Given the description of an element on the screen output the (x, y) to click on. 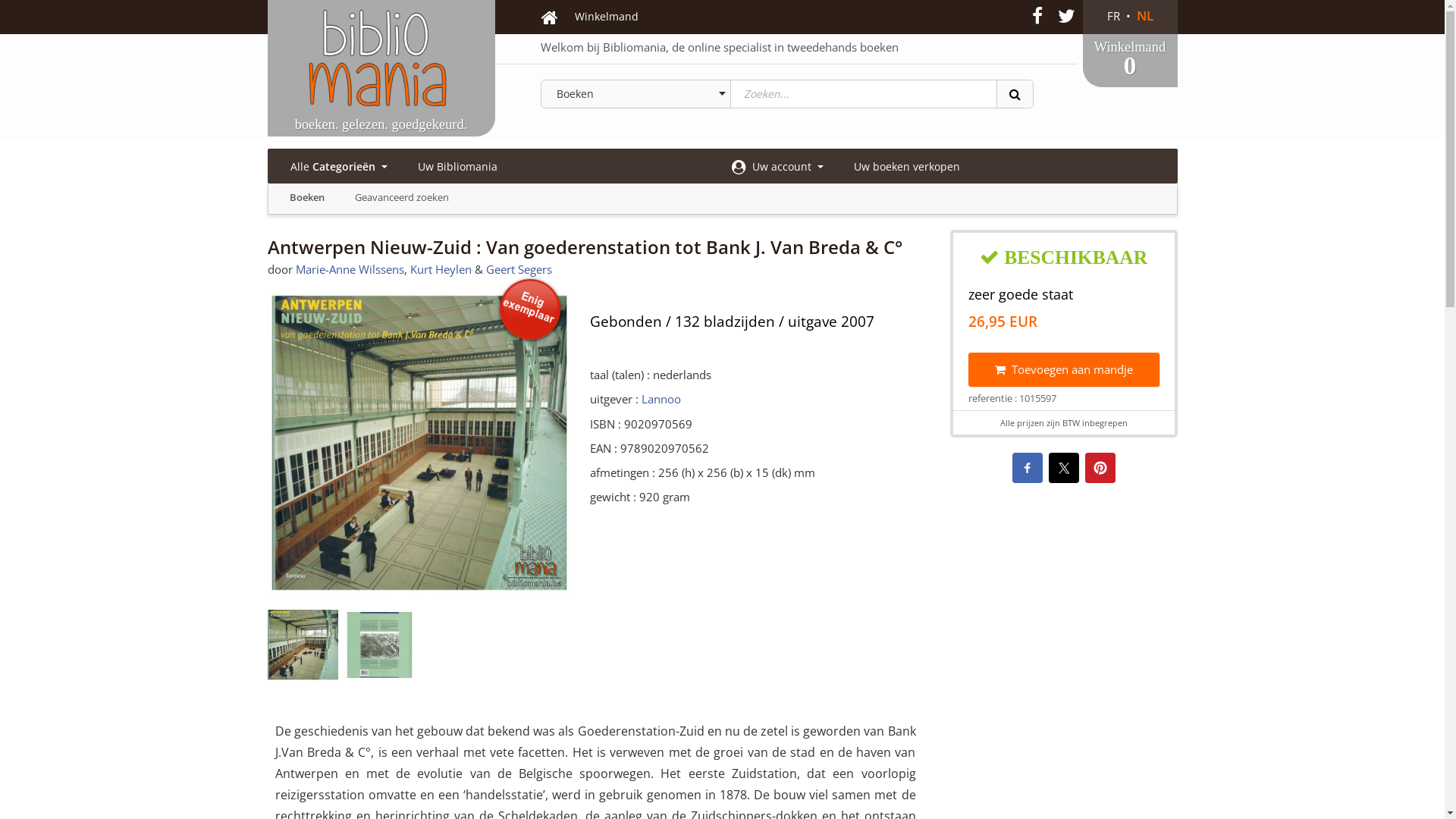
Uw boeken verkopen Element type: text (906, 166)
  Toevoegen aan mandje Element type: text (1062, 369)
Boeken Element type: text (306, 196)
Marie-Anne Wilssens Element type: text (349, 268)
Kurt Heylen Element type: text (439, 268)
Geavanceerd zoeken Element type: text (401, 196)
FR Element type: text (1113, 16)
Lannoo Element type: text (660, 398)
Uw Bibliomania Element type: text (456, 166)
Geert Segers Element type: text (518, 268)
Winkelmand Element type: text (606, 16)
